Given the description of an element on the screen output the (x, y) to click on. 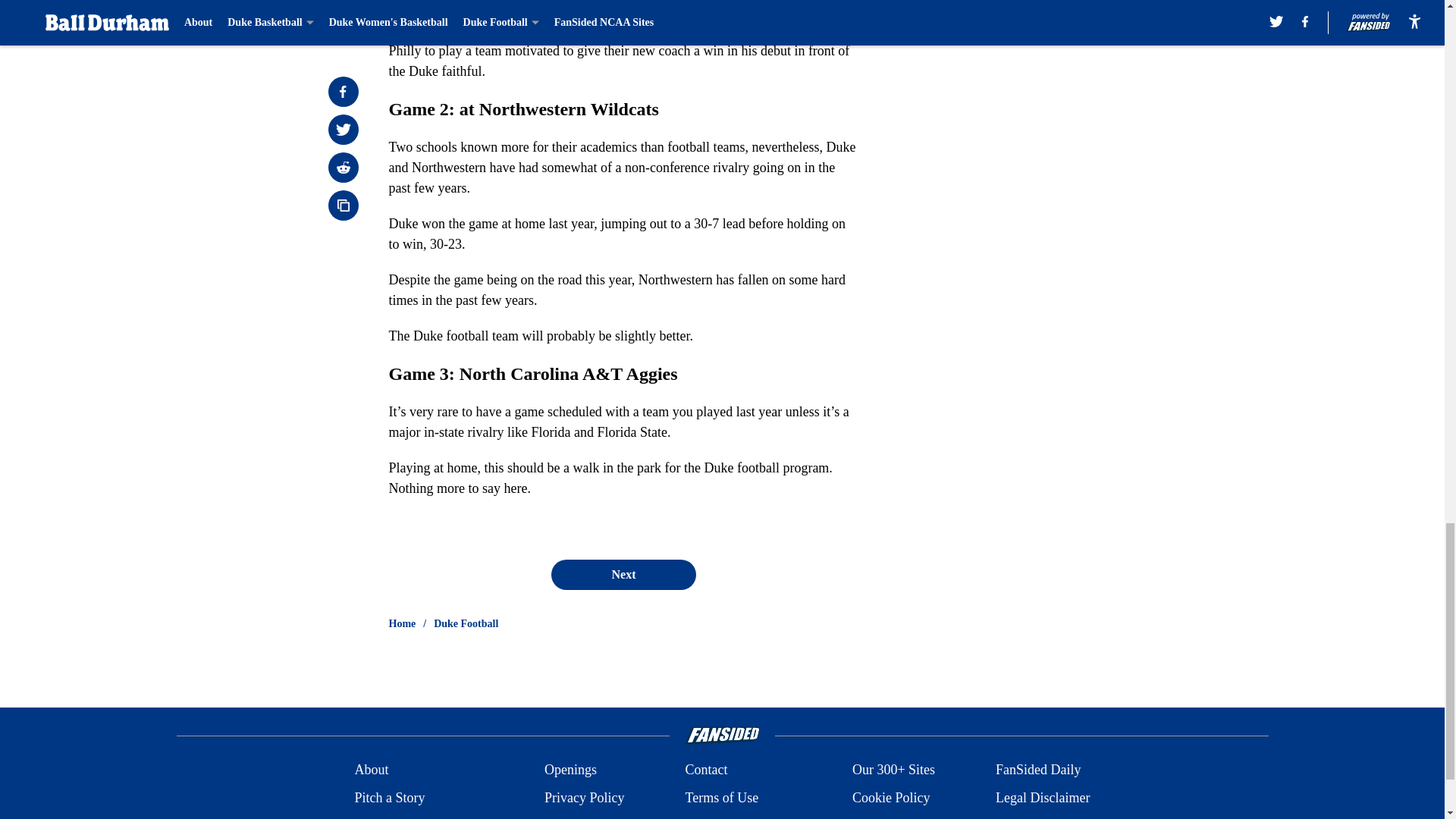
Duke Football (465, 623)
Home (401, 623)
Contact (705, 770)
Pitch a Story (389, 797)
FanSided Daily (1038, 770)
Privacy Policy (584, 797)
About (370, 770)
Next (622, 574)
Terms of Use (721, 797)
Openings (570, 770)
